Given the description of an element on the screen output the (x, y) to click on. 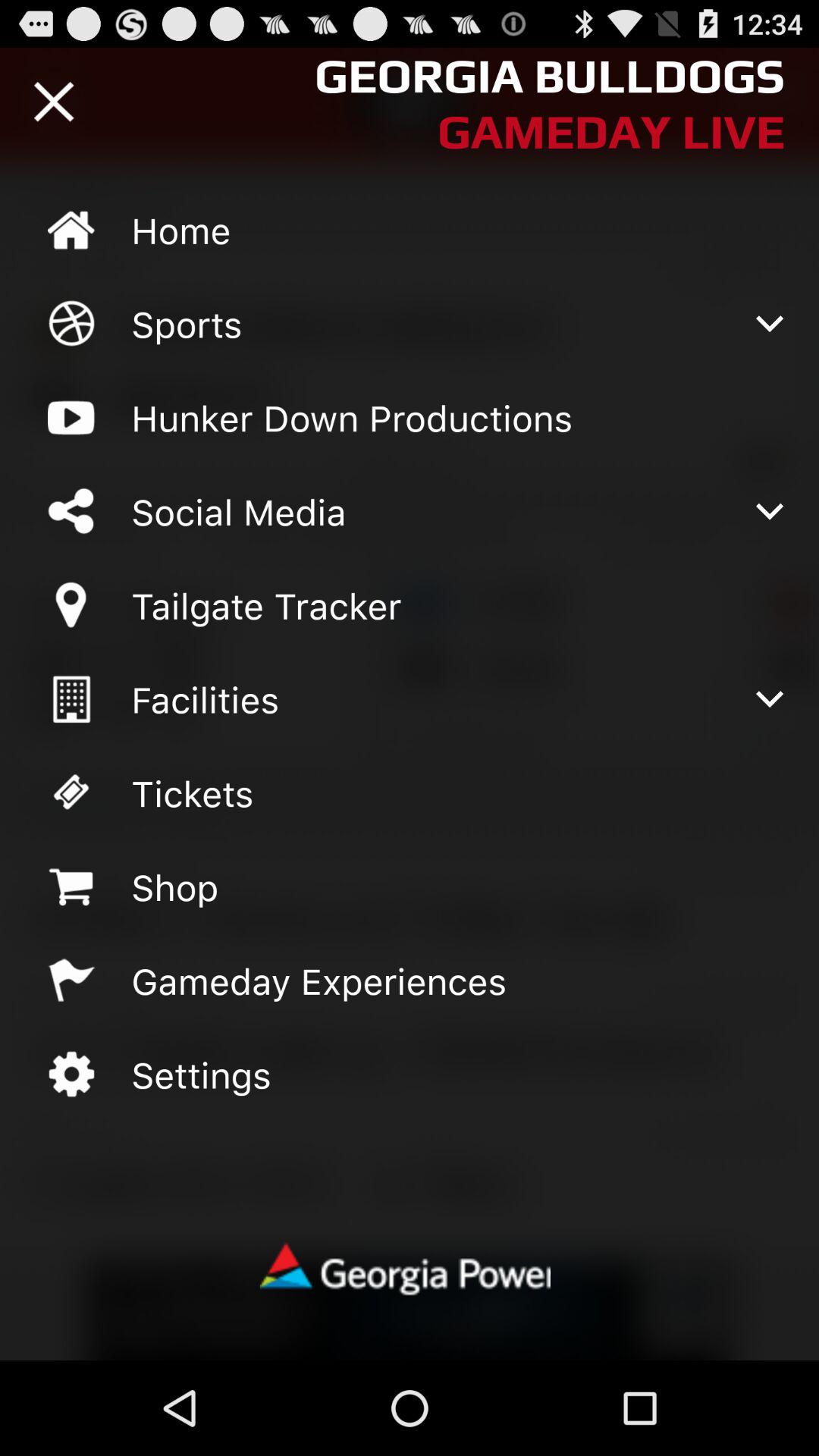
closes menu (54, 101)
